Given the description of an element on the screen output the (x, y) to click on. 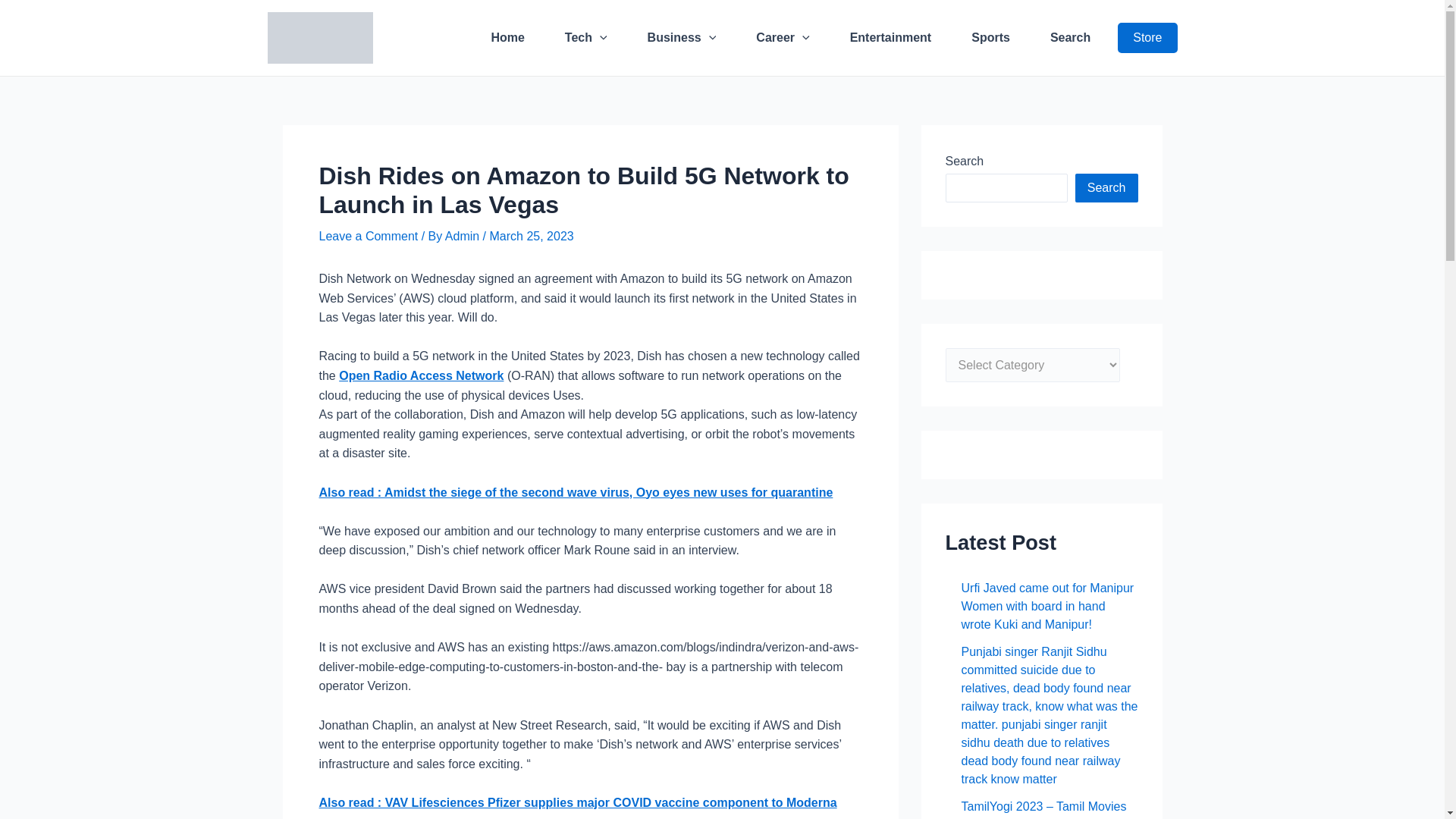
Tech (586, 37)
View all posts by Admin (464, 236)
Business (681, 37)
Sports (990, 37)
Store (1147, 37)
Search (1070, 37)
Home (507, 37)
Entertainment (890, 37)
Career (782, 37)
